Given the description of an element on the screen output the (x, y) to click on. 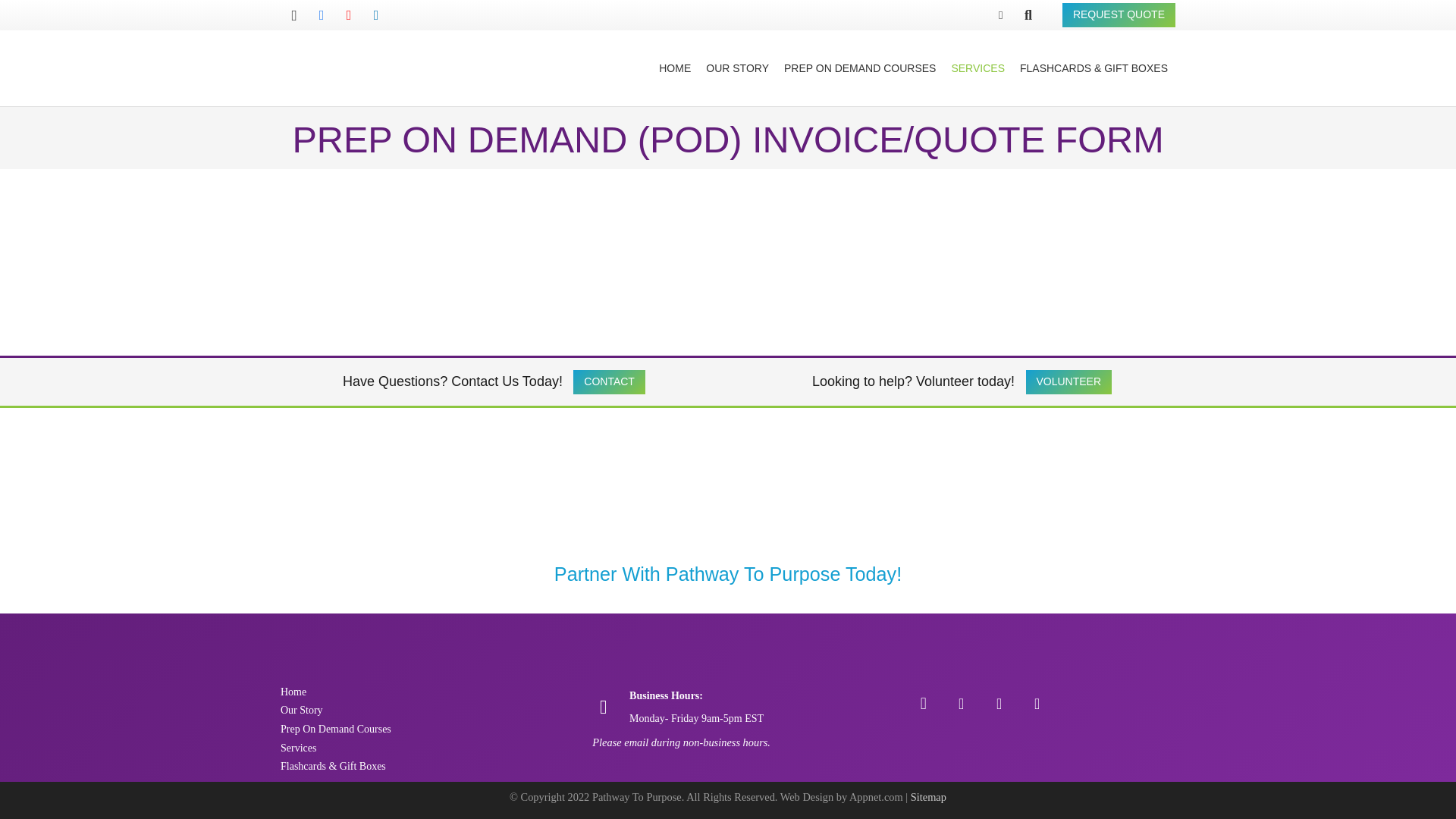
Prep On Demand Courses (336, 728)
Instagram (294, 14)
Facebook (960, 703)
Volunteer (1068, 381)
REQUEST QUOTE (1118, 15)
VOLUNTEER (1068, 381)
PREP ON DEMAND COURSES (859, 68)
OUR STORY (737, 68)
YouTube (348, 14)
LinkedIn (376, 14)
